Given the description of an element on the screen output the (x, y) to click on. 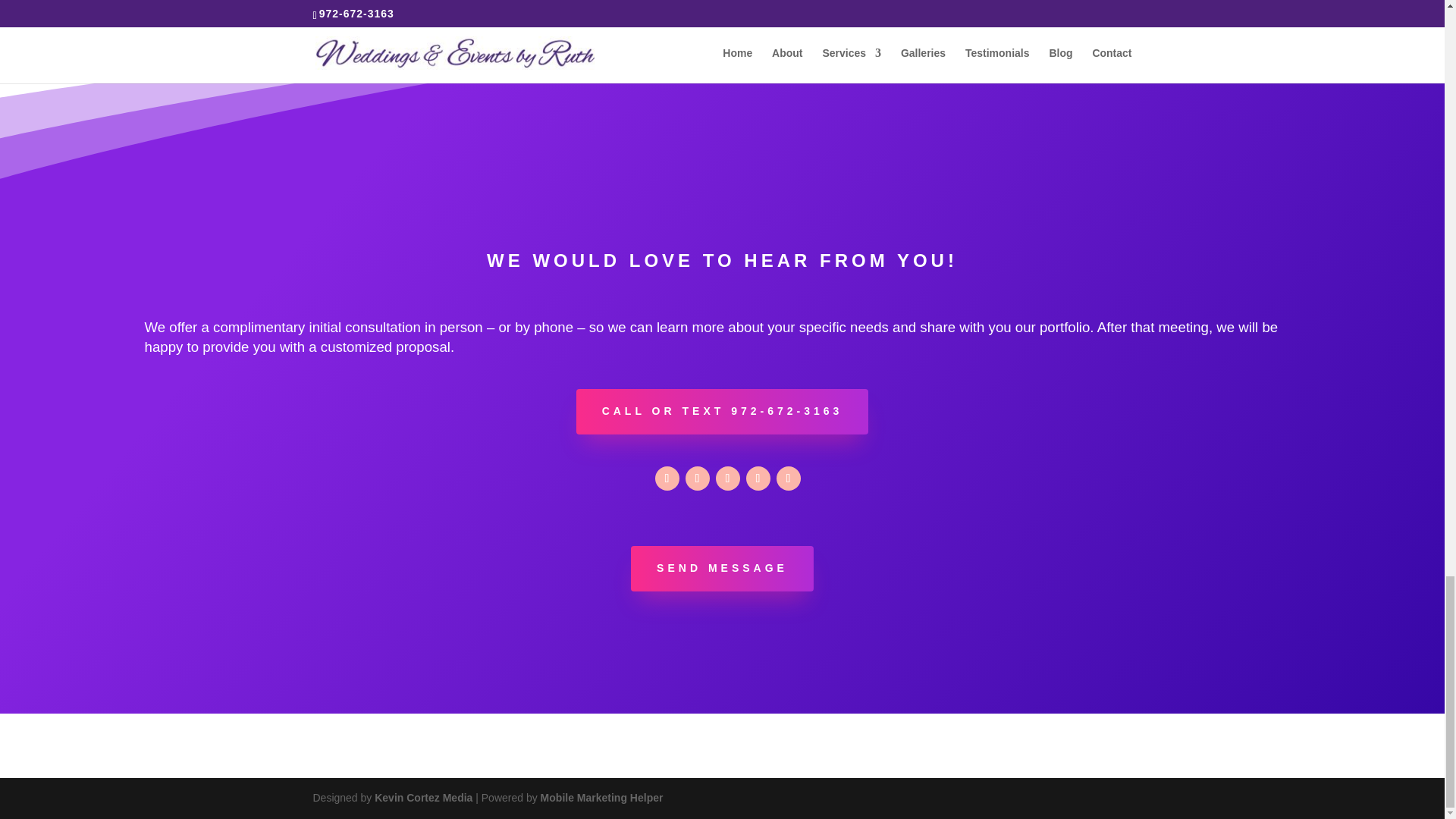
Follow on LinkedIn (757, 478)
Follow on X (727, 478)
Follow on Instagram (667, 478)
Follow on dribbble (788, 478)
Follow on Facebook (697, 478)
